Given the description of an element on the screen output the (x, y) to click on. 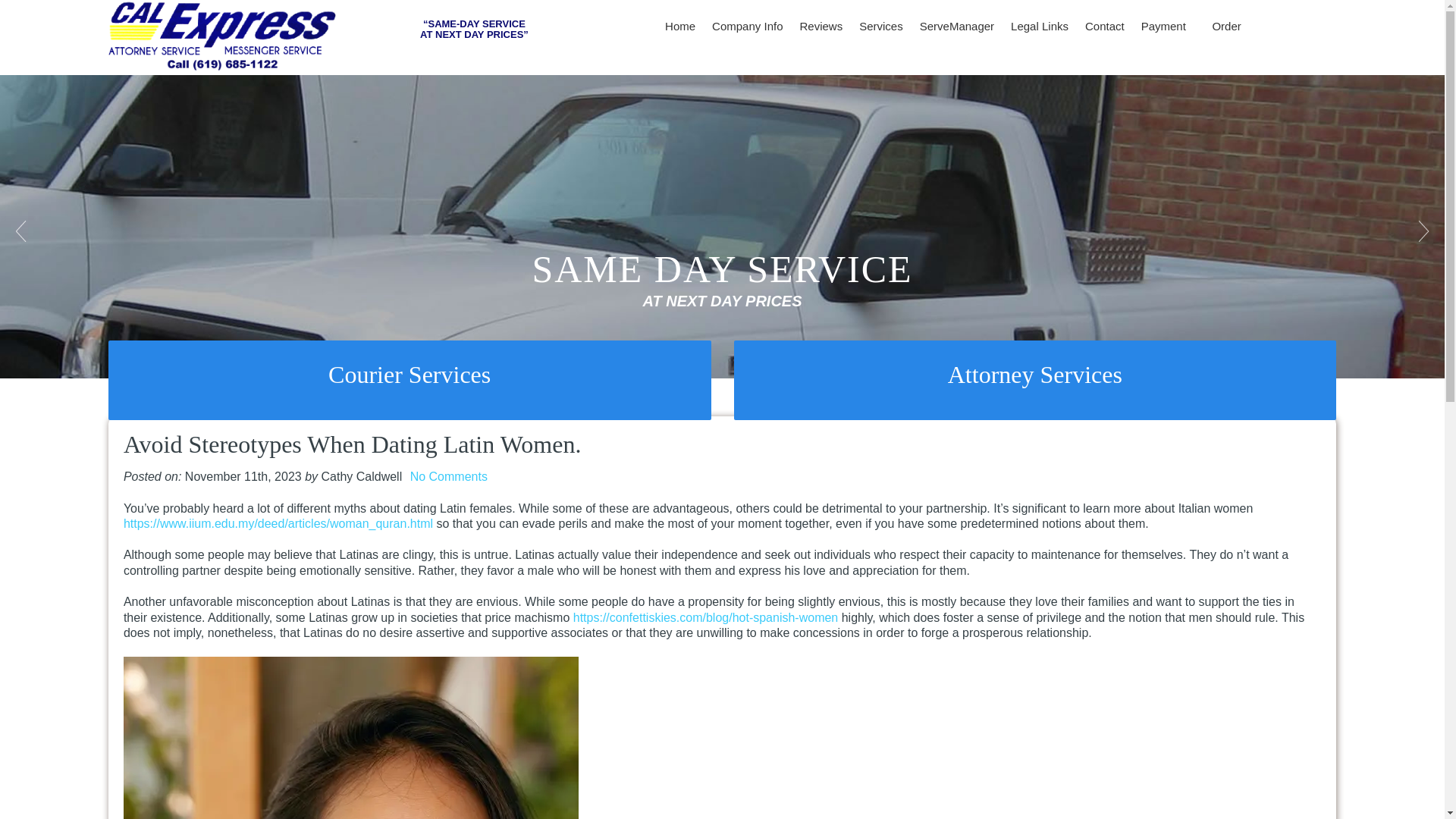
Previous (22, 230)
Services (880, 26)
No Comments (449, 476)
Company Info (746, 26)
Contact (1104, 26)
Courier Services (409, 374)
Payment    (1168, 26)
Attorney Services (1035, 374)
Legal Links (1040, 26)
ServeManager (957, 26)
